Given the description of an element on the screen output the (x, y) to click on. 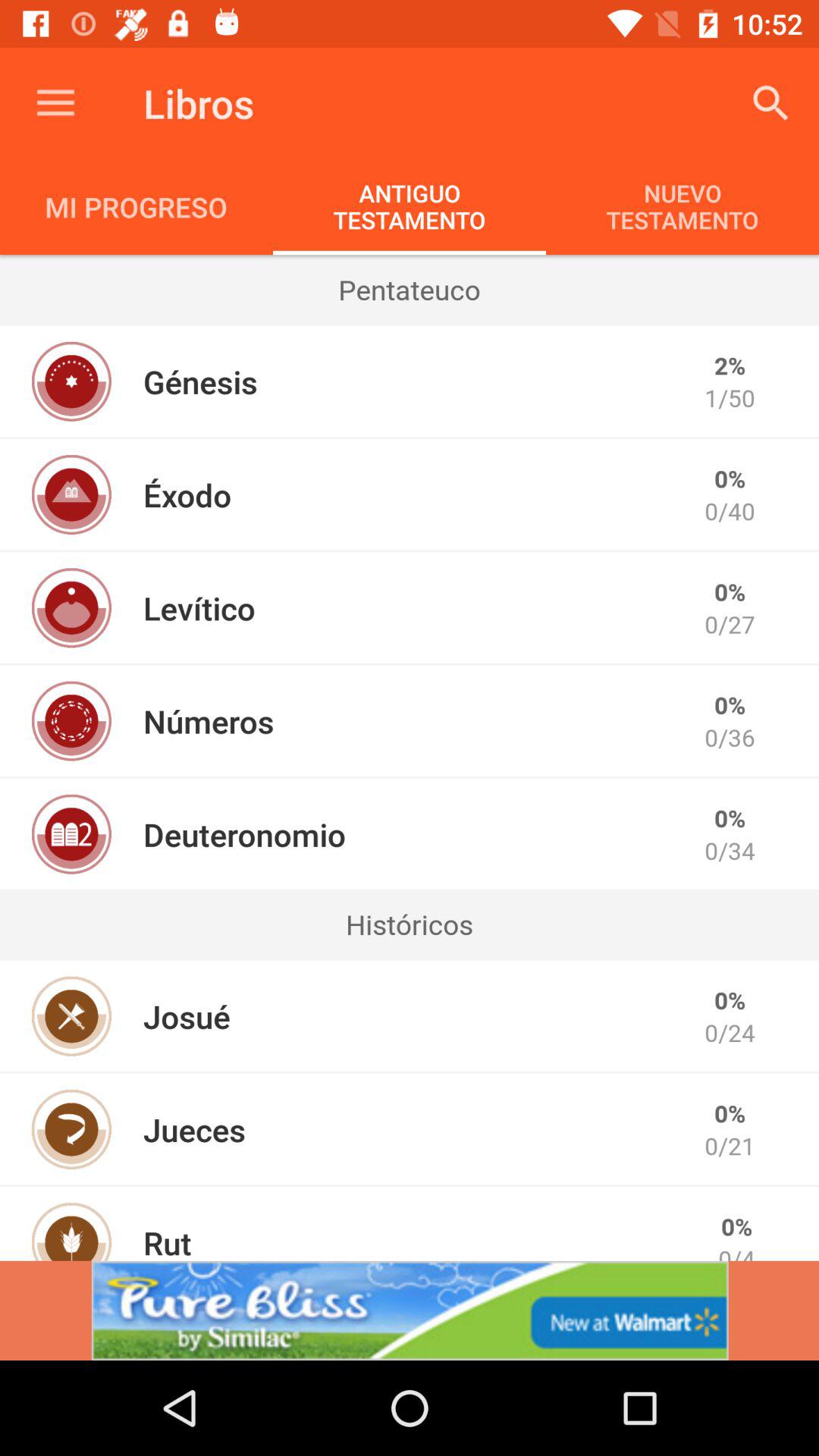
flip to the 2% icon (729, 365)
